Given the description of an element on the screen output the (x, y) to click on. 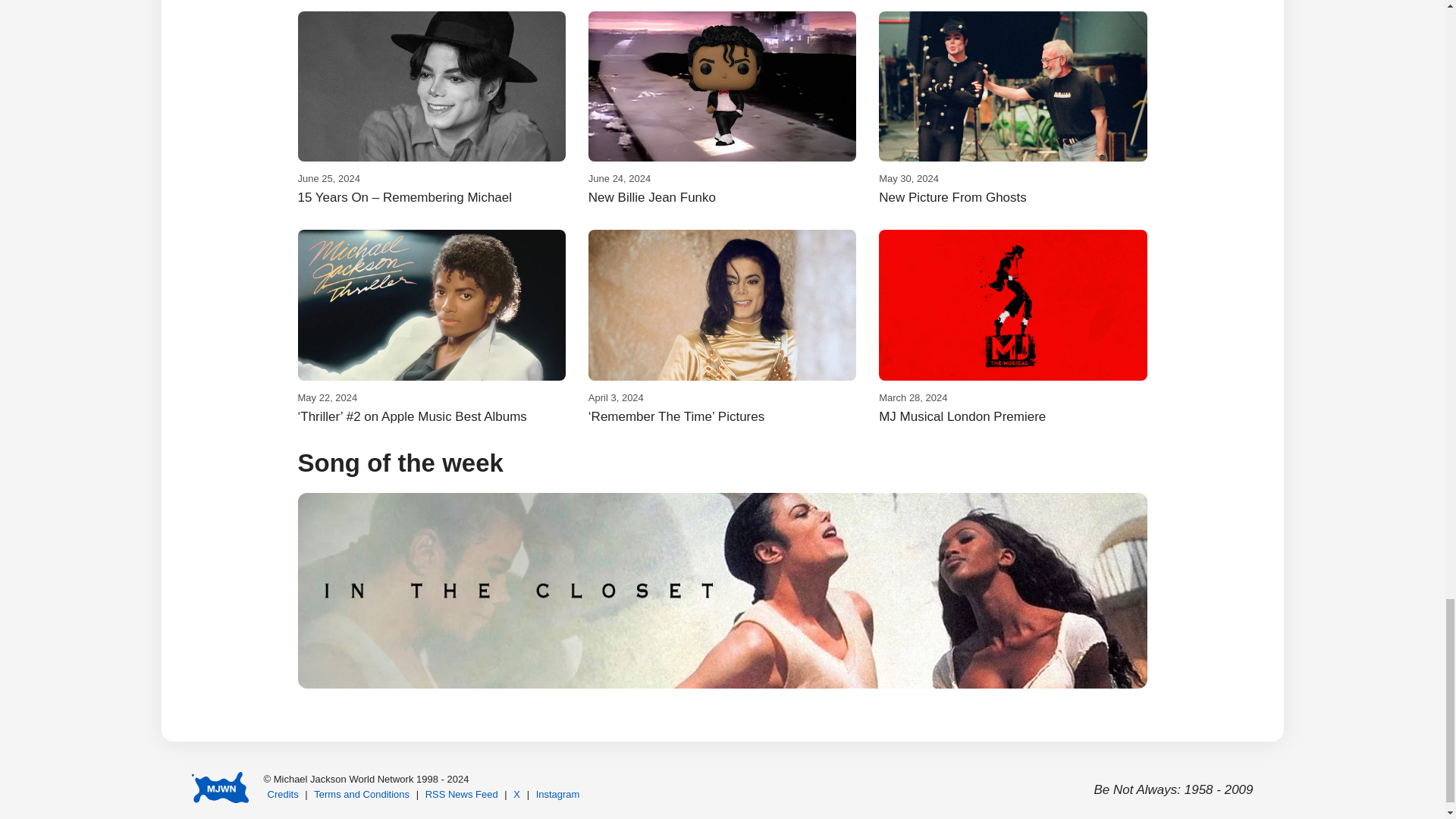
Credits (282, 794)
Terms and Conditions (1013, 109)
